Given the description of an element on the screen output the (x, y) to click on. 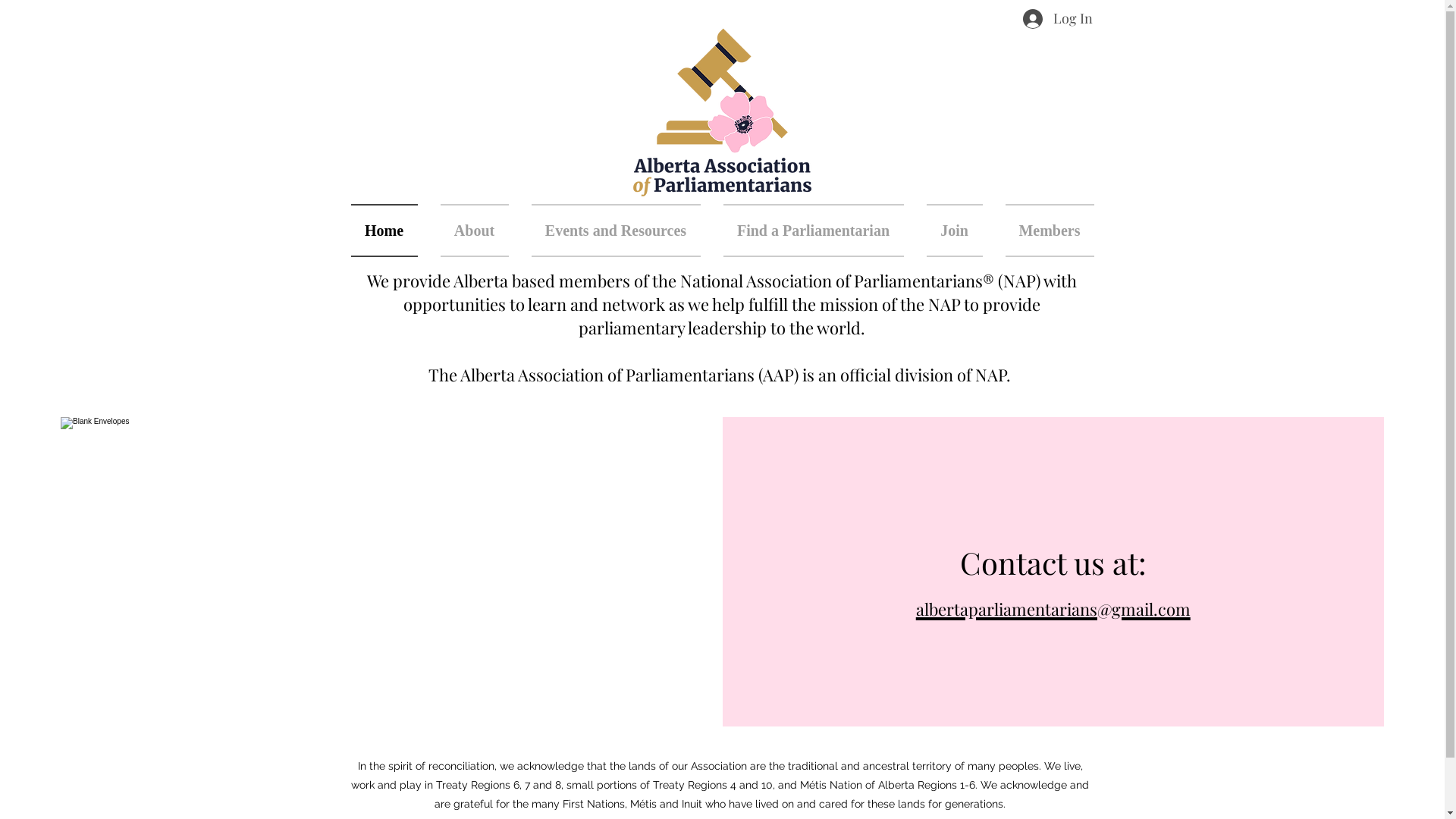
Events and Resources Element type: text (616, 230)
Find a Parliamentarian Element type: text (812, 230)
Log In Element type: text (1052, 18)
About Element type: text (474, 230)
Home Element type: text (389, 230)
Join Element type: text (953, 230)
albertaparliamentarians@gmail.com Element type: text (1053, 603)
Members Element type: text (1043, 230)
